Given the description of an element on the screen output the (x, y) to click on. 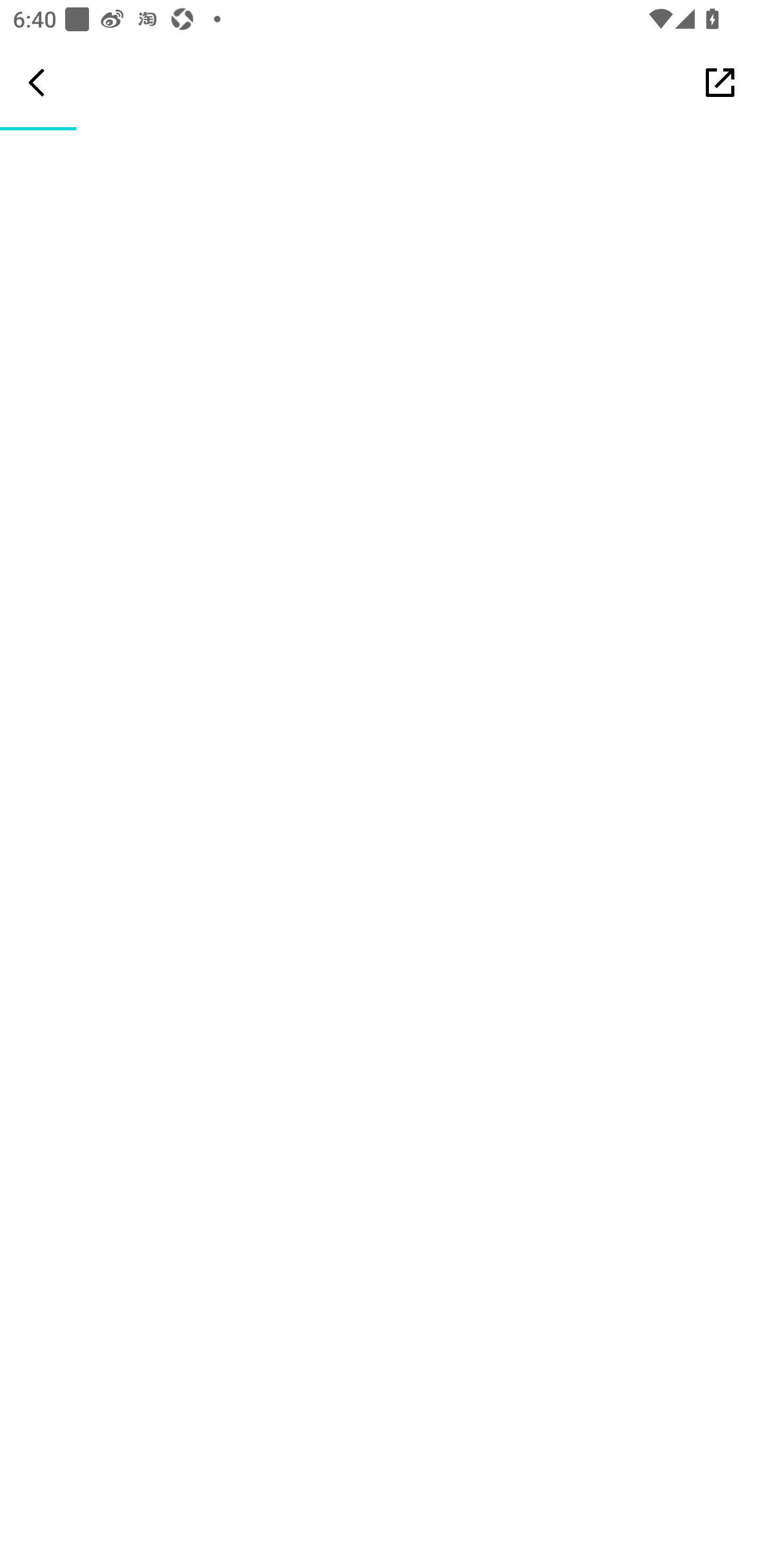
Navigate up (36, 82)
